Given the description of an element on the screen output the (x, y) to click on. 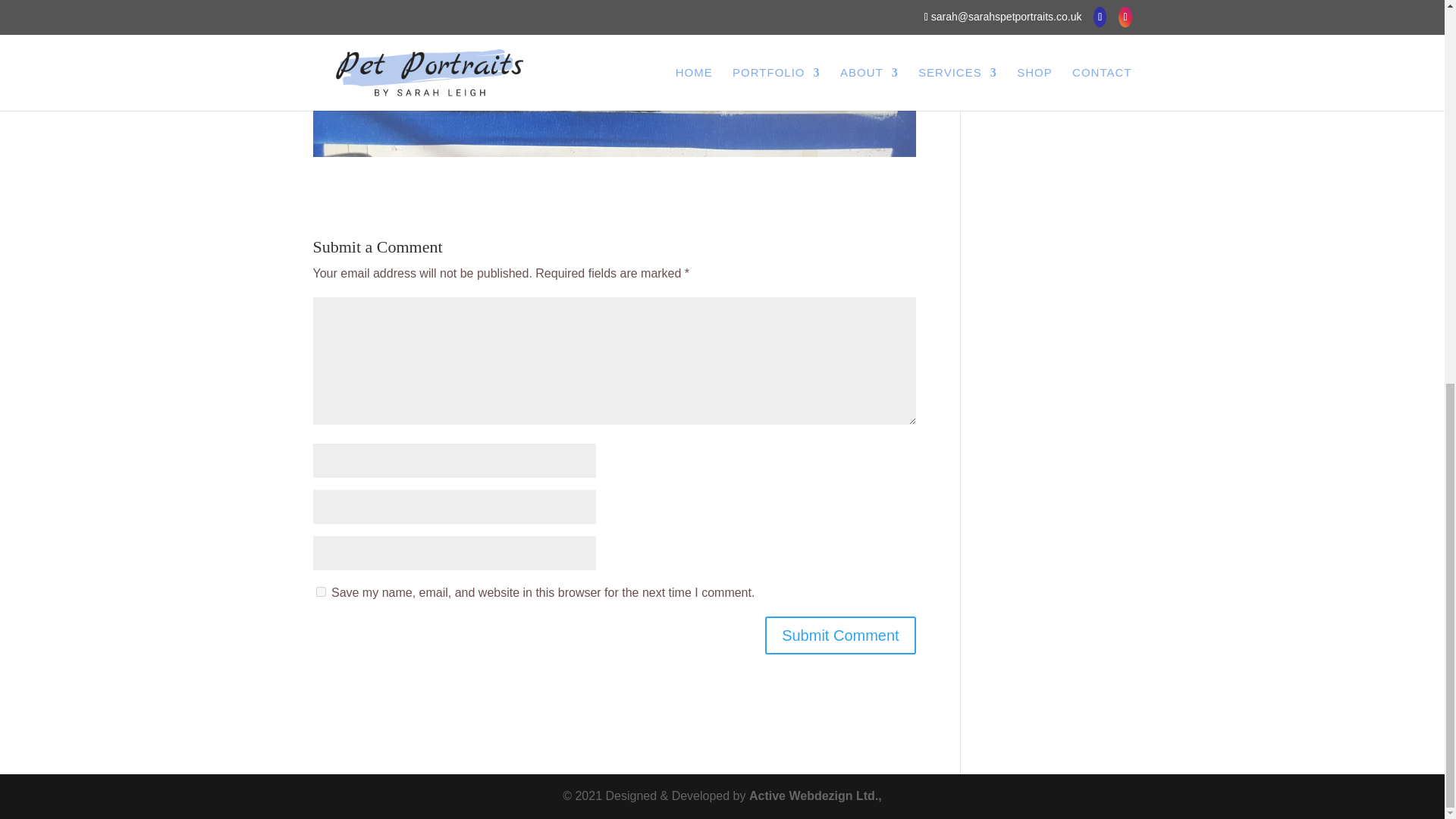
yes (319, 592)
Submit Comment (840, 635)
